Given the description of an element on the screen output the (x, y) to click on. 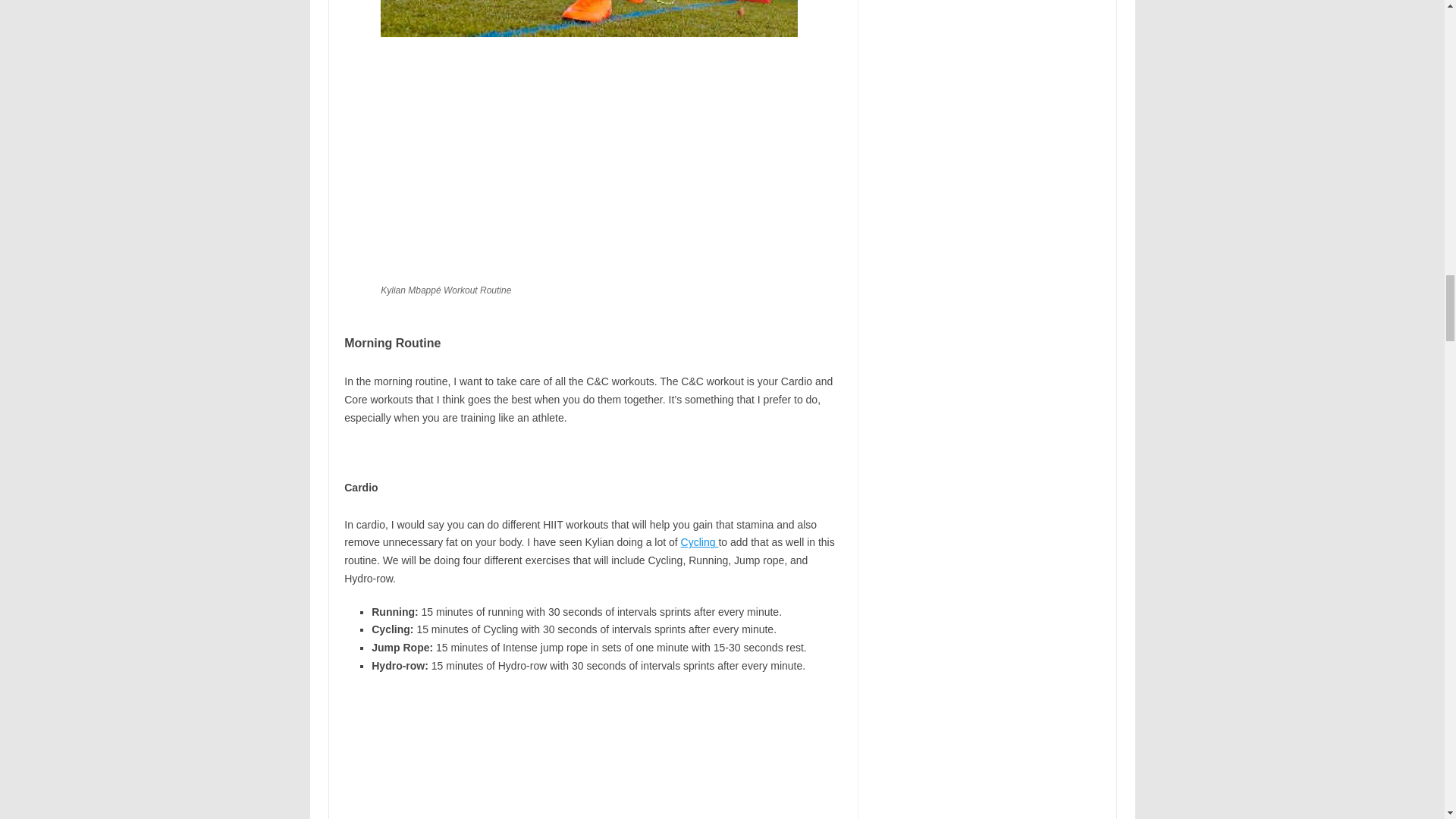
Cycling (700, 541)
